Given the description of an element on the screen output the (x, y) to click on. 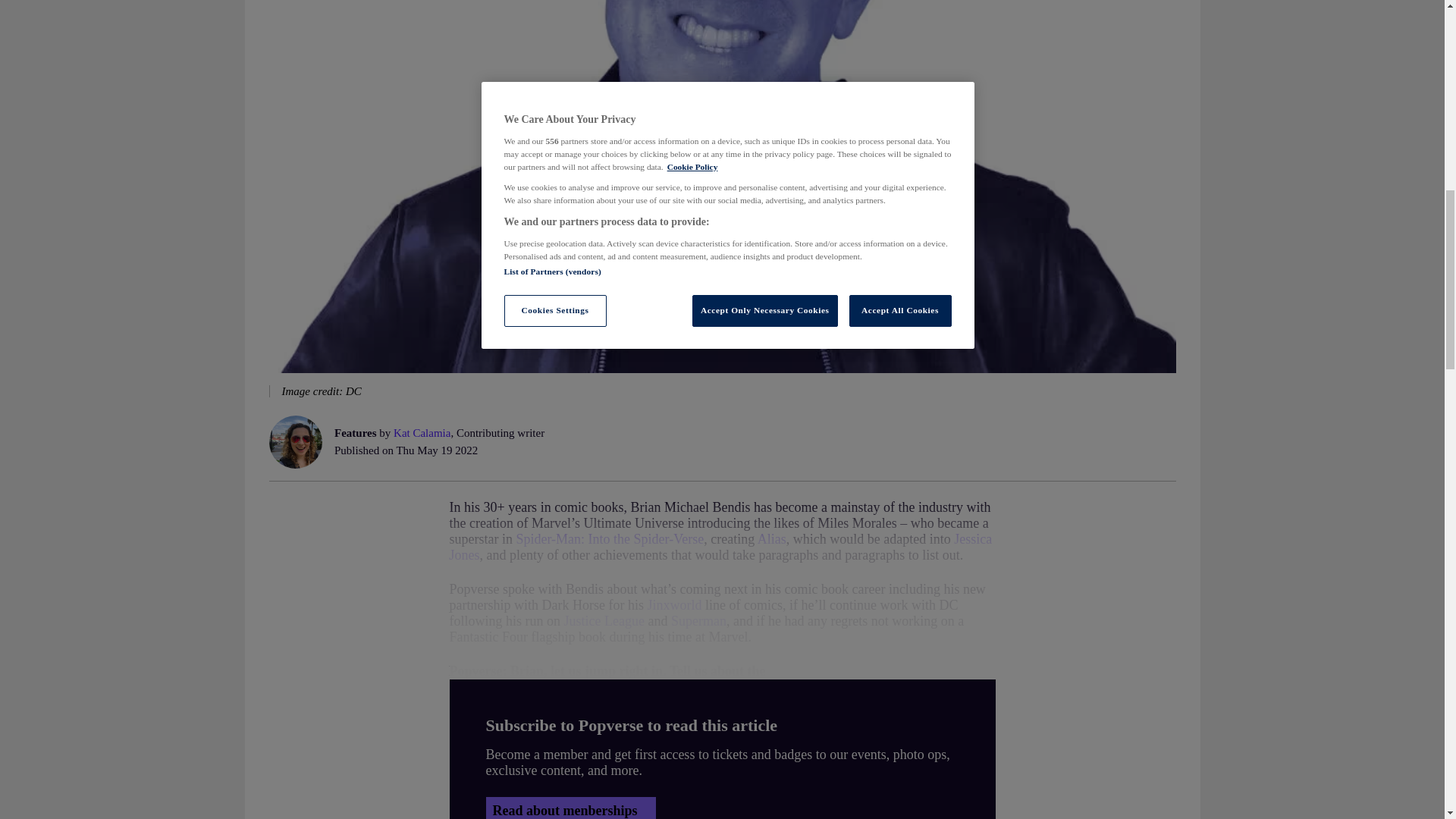
Justice League (604, 620)
Jessica Jones (719, 546)
Alias (771, 539)
Read about menberships (569, 807)
Superman (698, 620)
Kat Calamia (421, 432)
Jinxworld (673, 604)
Spider-Man: Into the Spider-Verse (609, 539)
